Given the description of an element on the screen output the (x, y) to click on. 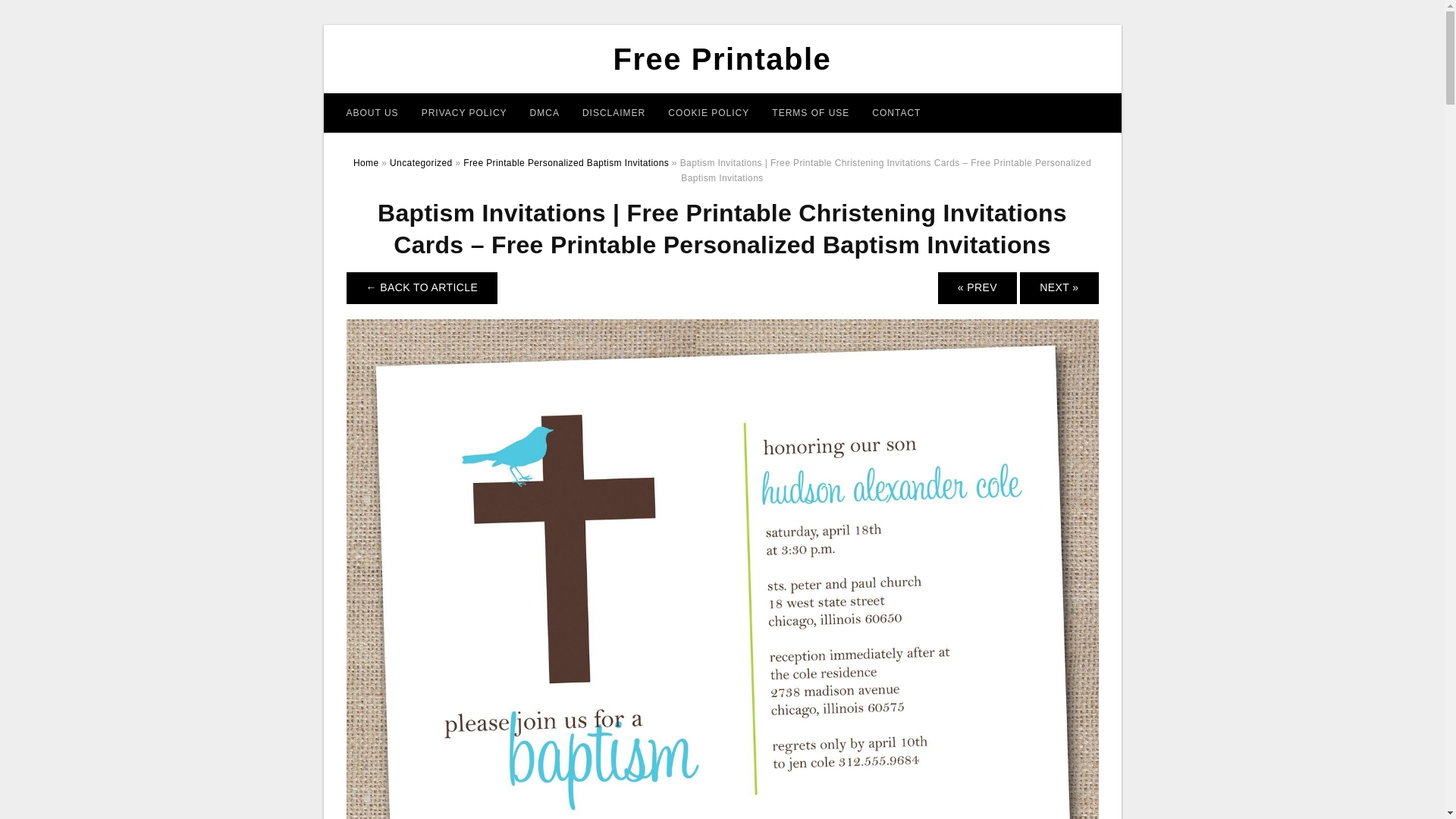
Free Printable Personalized Baptism Invitations (565, 163)
PRIVACY POLICY (464, 112)
Home (365, 163)
Uncategorized (421, 163)
ABOUT US (372, 112)
Return to Free Printable Personalized Baptism Invitations (421, 287)
TERMS OF USE (810, 112)
Free Printable (721, 59)
CONTACT (895, 112)
DISCLAIMER (613, 112)
